Given the description of an element on the screen output the (x, y) to click on. 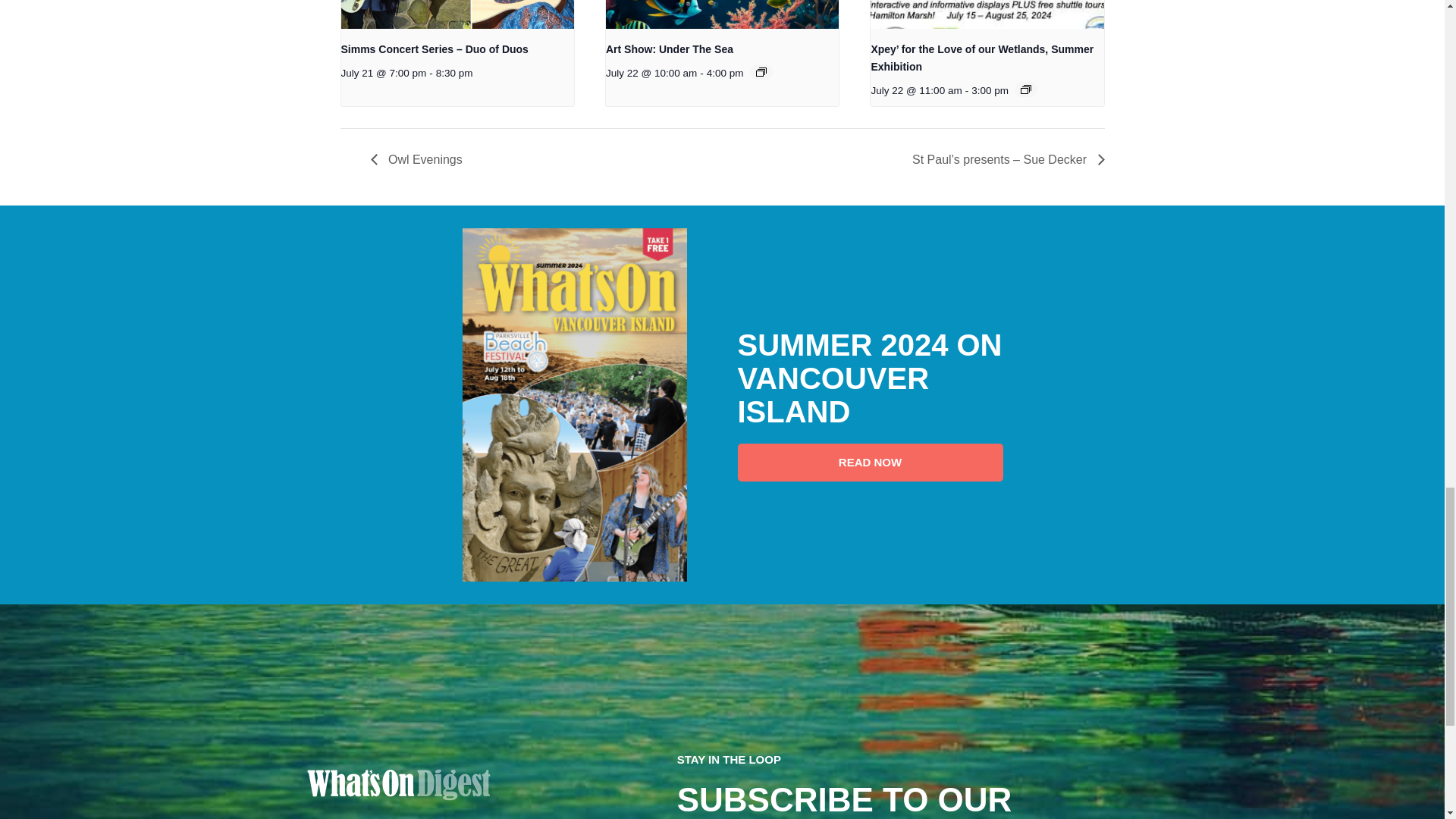
Event Series (760, 71)
Event Series (1025, 89)
